Given the description of an element on the screen output the (x, y) to click on. 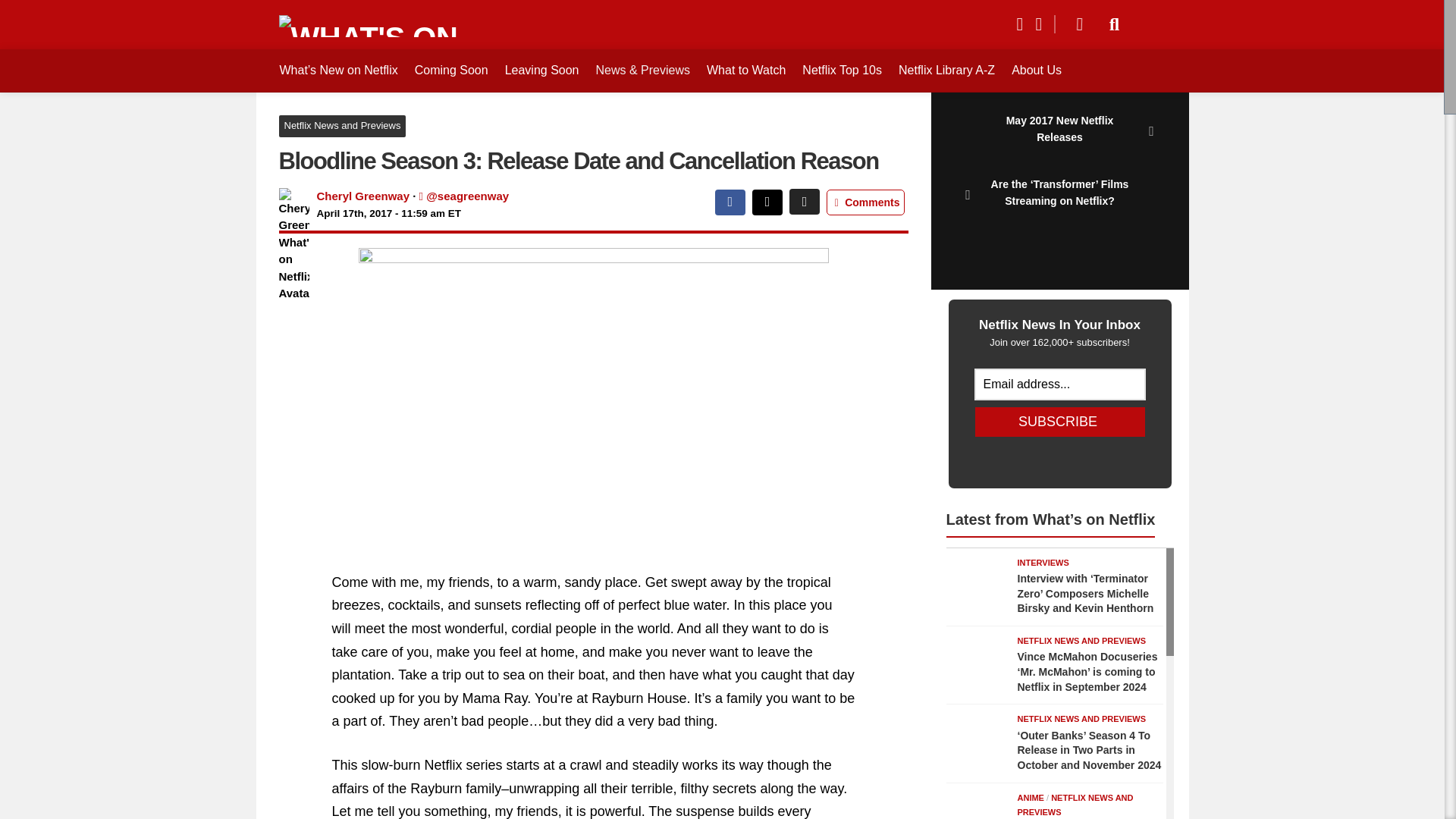
NETFLIX NEWS AND PREVIEWS (1082, 640)
Take Action Now! (111, 14)
May 2017 New Netflix Releases (1059, 131)
ANIME (1030, 797)
Coming Soon (451, 70)
NETFLIX NEWS AND PREVIEWS (1082, 718)
About Us (1036, 70)
Posts by Cheryl Greenway (363, 195)
Cheryl Greenway (363, 195)
Netflix Top 10s (842, 70)
